Given the description of an element on the screen output the (x, y) to click on. 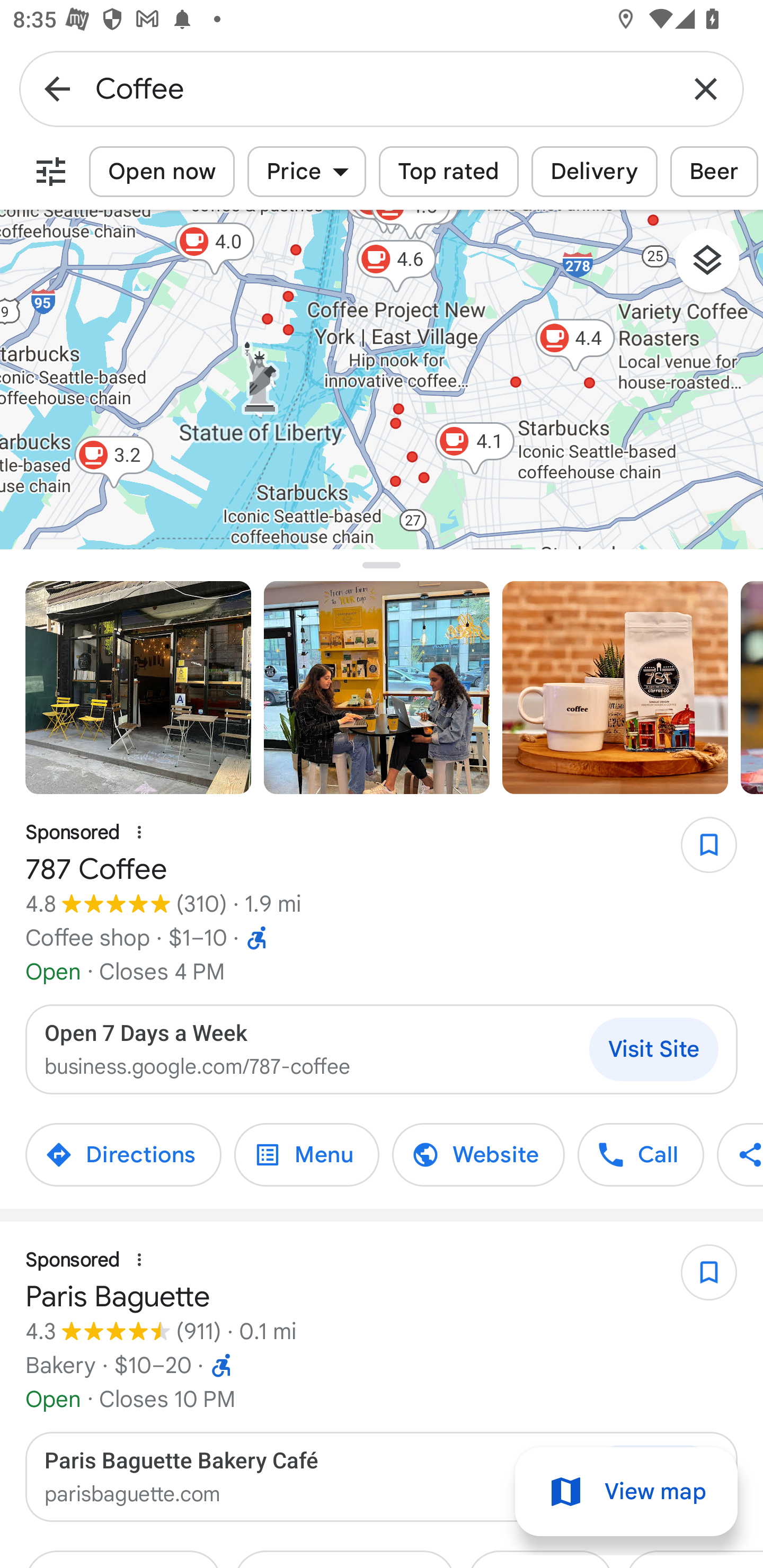
Back (57, 88)
Coffee (381, 88)
Clear (705, 88)
More filters (50, 171)
Open now Open now Open now (162, 171)
Price Price Price (306, 171)
Top rated Top rated Top rated (448, 171)
Delivery Delivery Delivery (594, 171)
Beer Beer Beer (713, 171)
Layers (716, 267)
Photo (138, 687)
Photo (376, 687)
Photo (614, 687)
Photo (751, 687)
About this ad (139, 832)
Save 787 Coffee to lists (699, 851)
787 Coffee Menu Menu 787 Coffee Menu (306, 1154)
Website (478, 1154)
About this ad (139, 1259)
Save Paris Baguette to lists (699, 1278)
View map Map view (626, 1491)
